Given the description of an element on the screen output the (x, y) to click on. 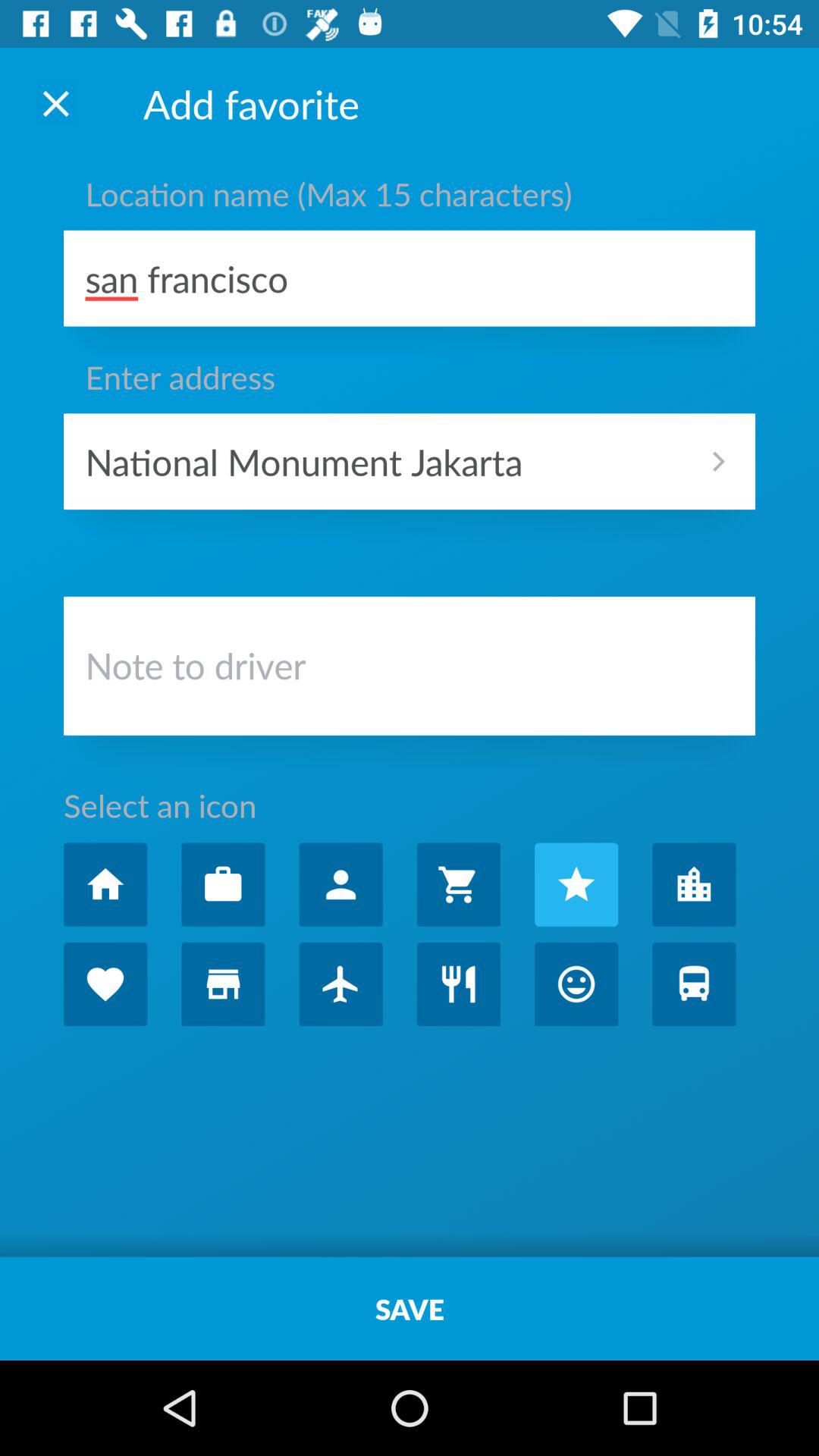
restaurant icon (458, 984)
